Given the description of an element on the screen output the (x, y) to click on. 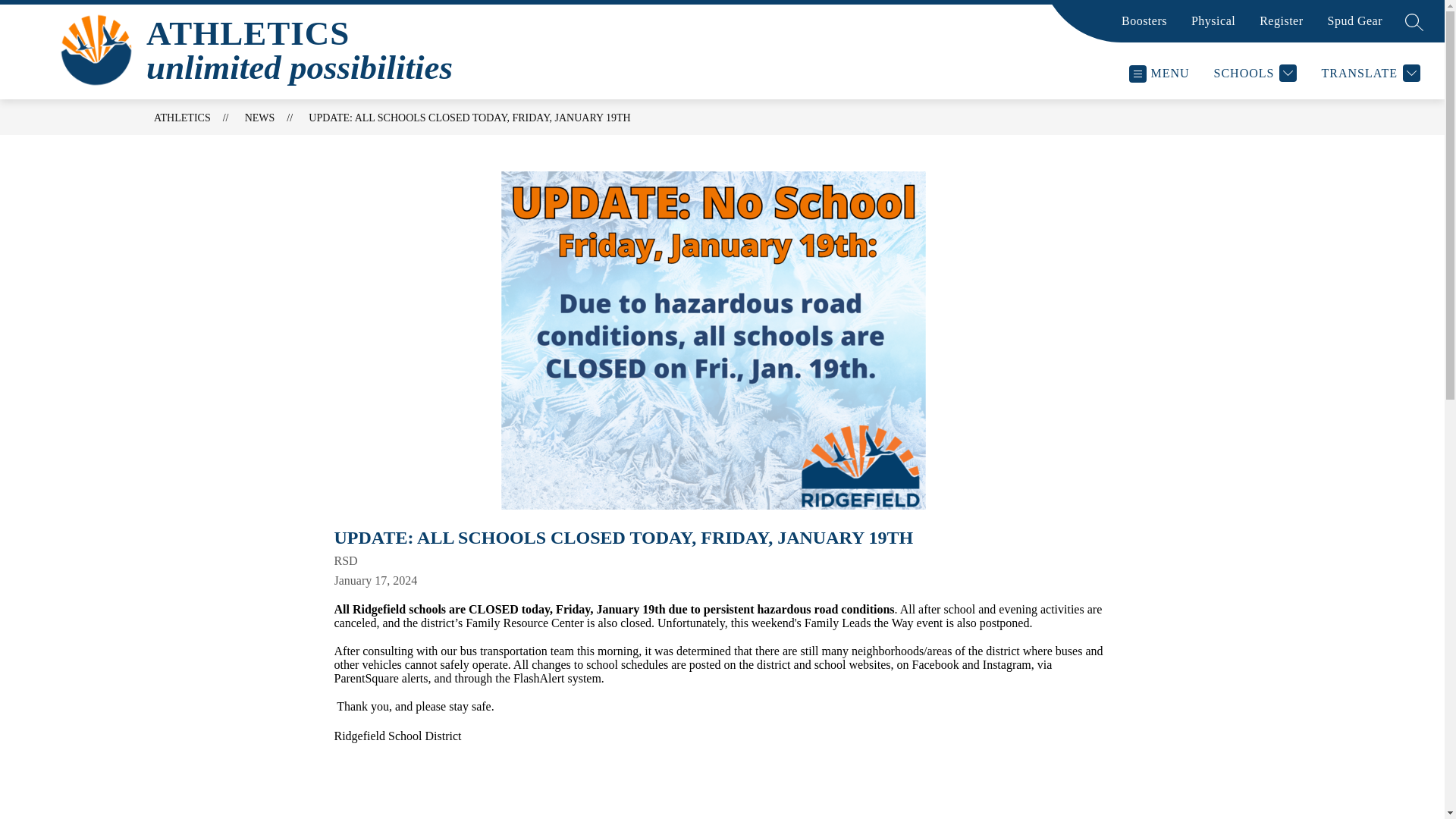
Spud Gear (1354, 27)
NEWS (259, 117)
UPDATE: ALL SCHOOLS CLOSED TODAY, FRIDAY, JANUARY 19TH (469, 117)
MENU (1157, 72)
Boosters (1144, 27)
Physical (1212, 27)
Register (1281, 27)
TRANSLATE (1370, 72)
SCHOOLS (1255, 72)
ATHLETICS (182, 117)
